Given the description of an element on the screen output the (x, y) to click on. 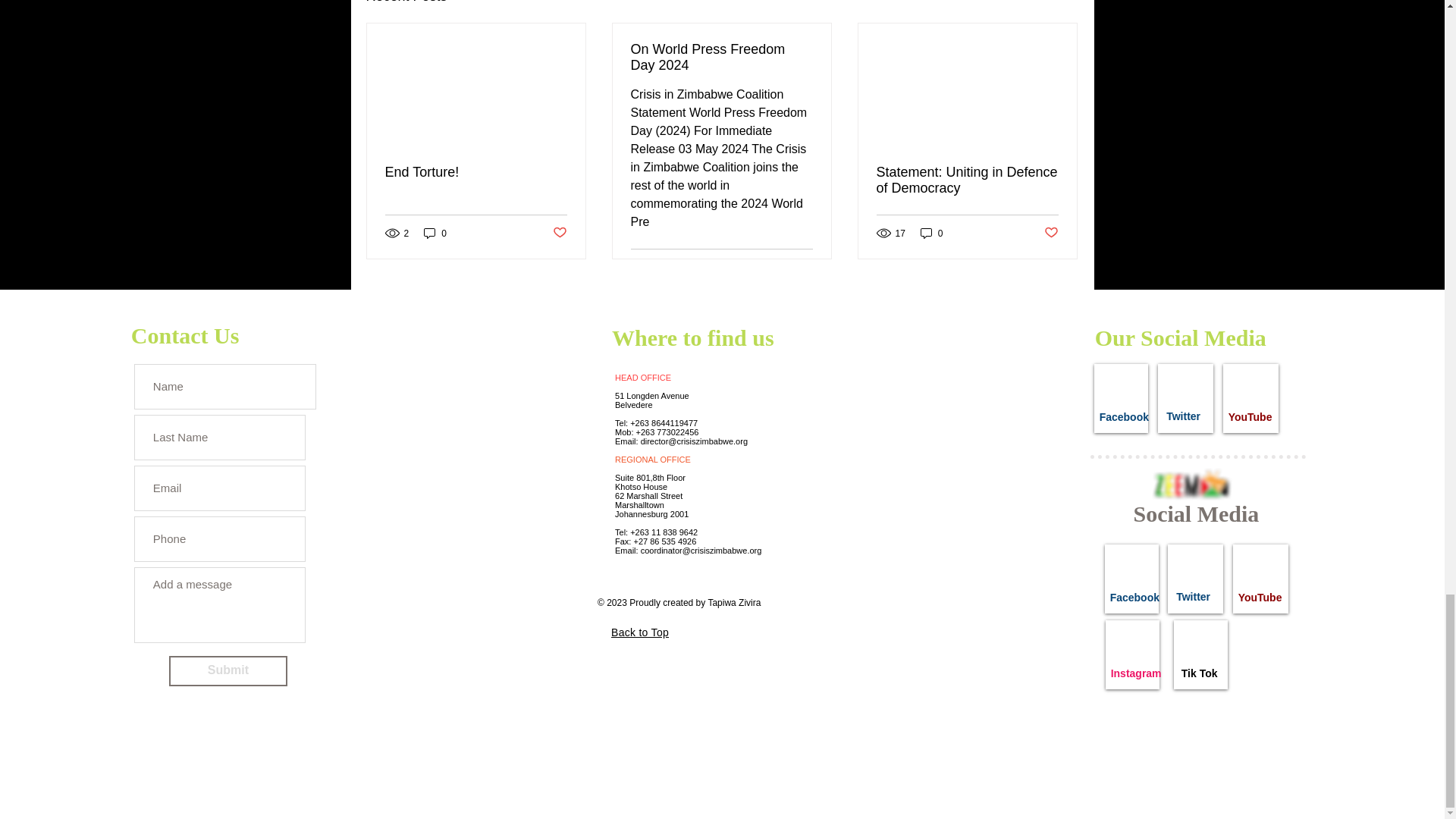
Post not marked as liked (558, 232)
End Torture! (476, 172)
See All (1061, 3)
Statement: Uniting in Defence of Democracy (967, 180)
On World Press Freedom Day 2024 (721, 57)
0 (931, 233)
0 (435, 233)
Post not marked as liked (1050, 232)
